Given the description of an element on the screen output the (x, y) to click on. 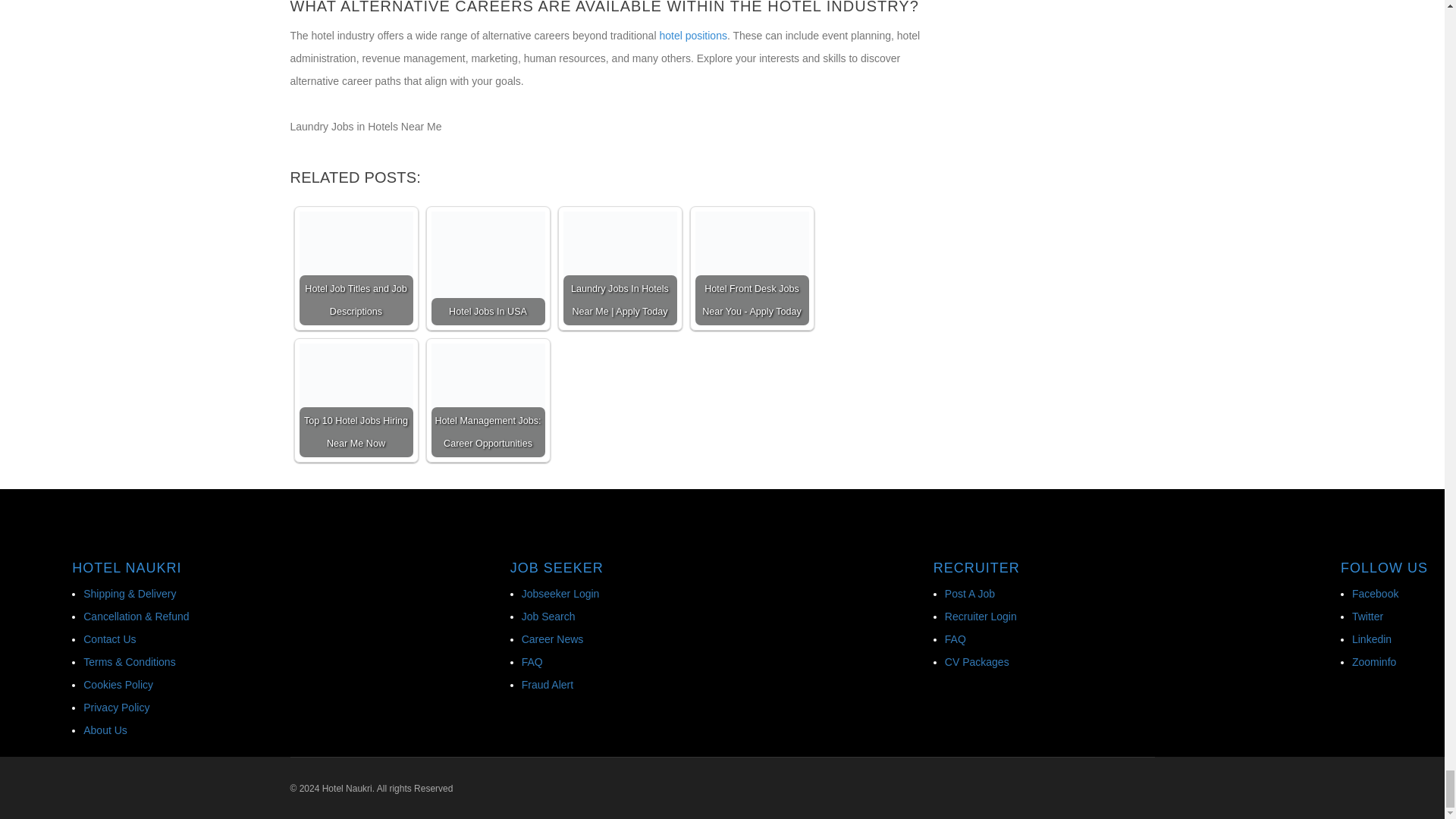
Top 10 Hotel Jobs Hiring Near Me Now (355, 399)
Hotel Front Desk Jobs Near You - Apply Today (751, 267)
Hotel Jobs In USA (487, 267)
Hotel Front Desk Jobs Near You - Apply Today (751, 267)
Hotel Jobs In USA (487, 267)
Hotel Management Jobs: Career Opportunities (487, 399)
hotel positions (692, 34)
Top 10 Hotel Jobs Hiring Near Me Now (355, 399)
Hotel Job Titles and Job Descriptions (355, 267)
Hotel Management Jobs: Career Opportunities (487, 399)
Hotel Job Titles and Job Descriptions (355, 243)
